Given the description of an element on the screen output the (x, y) to click on. 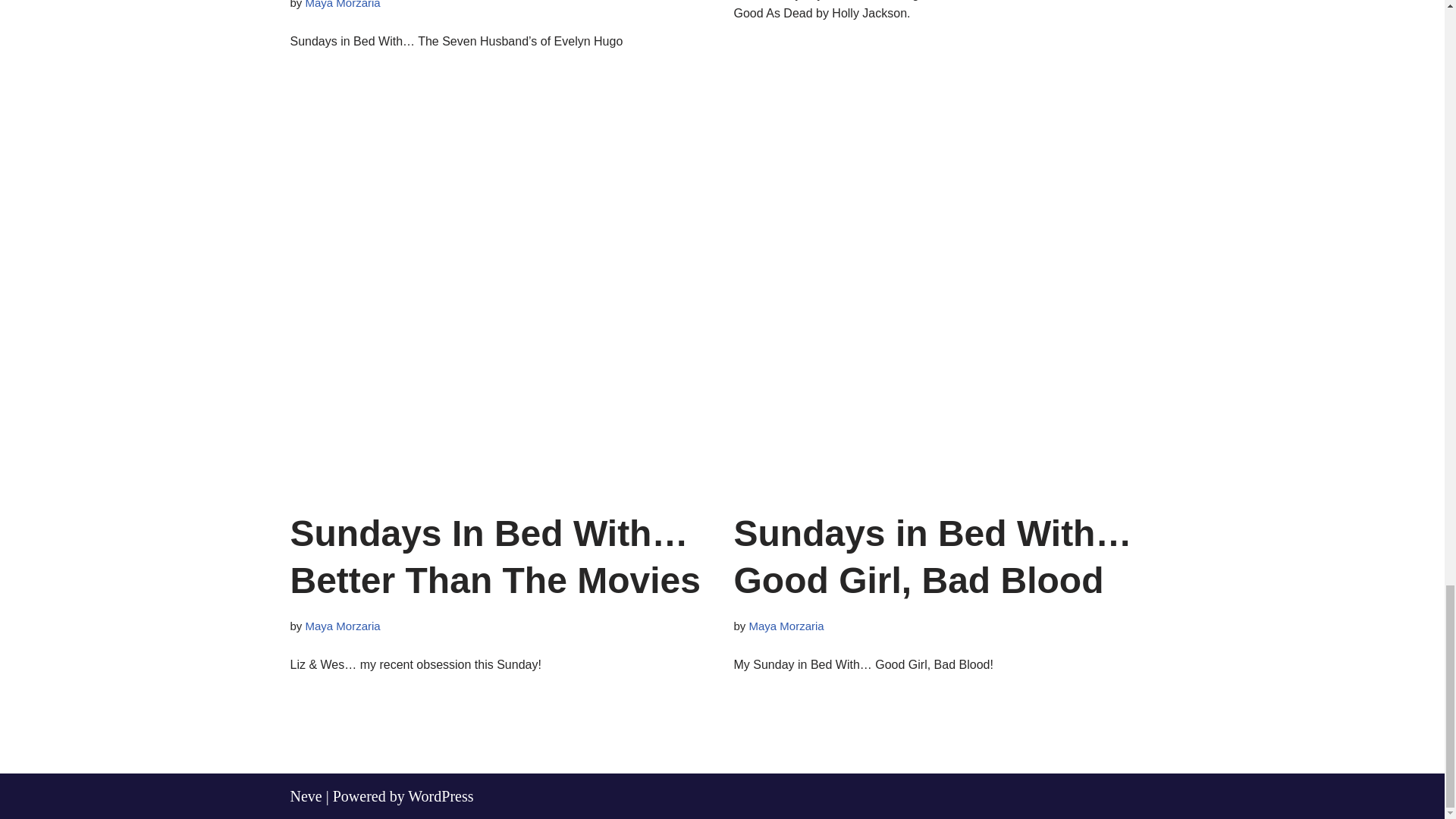
Posts by Maya Morzaria (342, 4)
Posts by Maya Morzaria (342, 625)
